Given the description of an element on the screen output the (x, y) to click on. 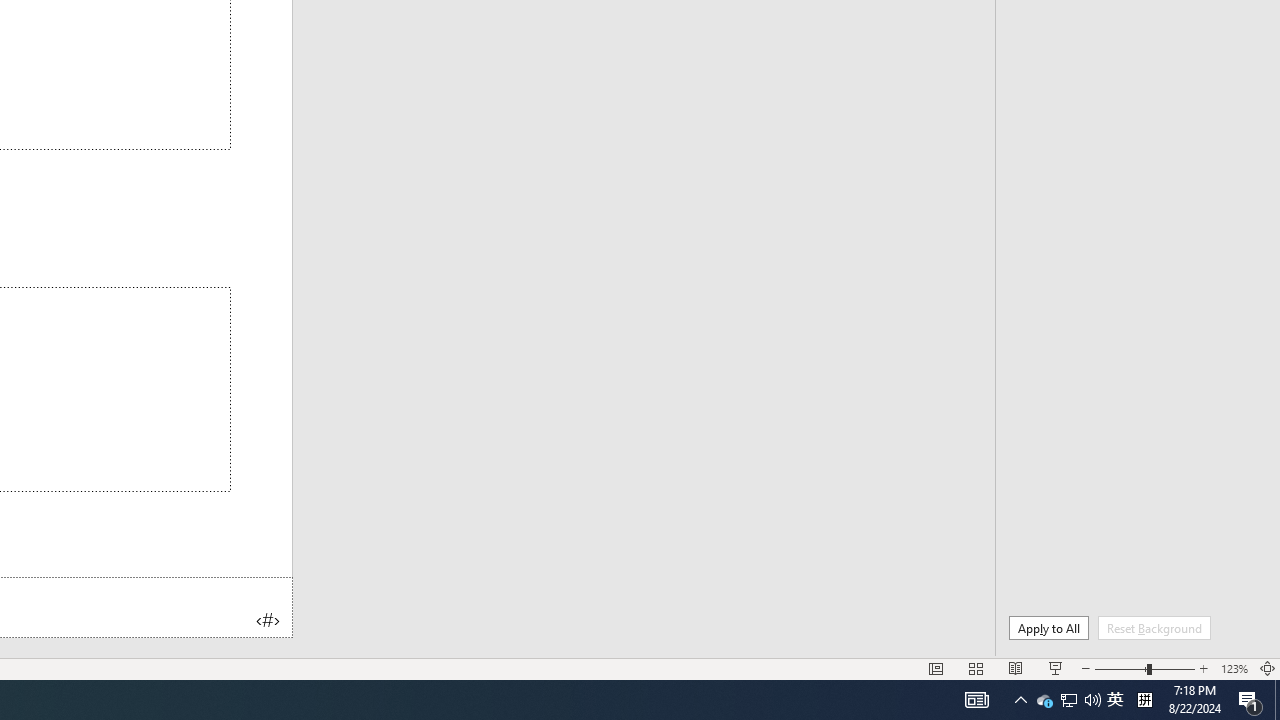
Reset Background (1154, 628)
Apply to All (1048, 628)
Zoom 123% (1234, 668)
